Given the description of an element on the screen output the (x, y) to click on. 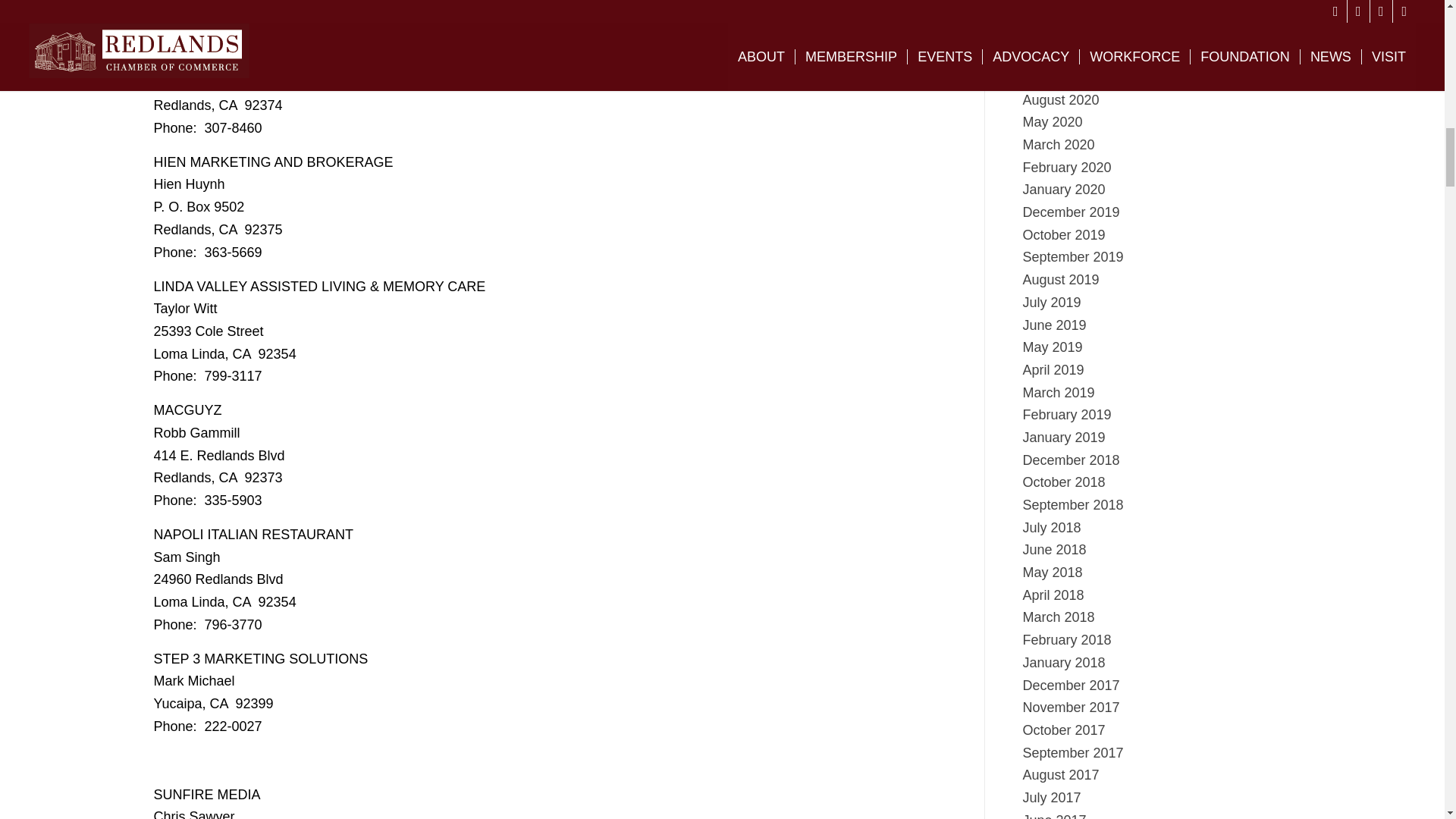
Posts by Evan Sanford (357, 2)
